Given the description of an element on the screen output the (x, y) to click on. 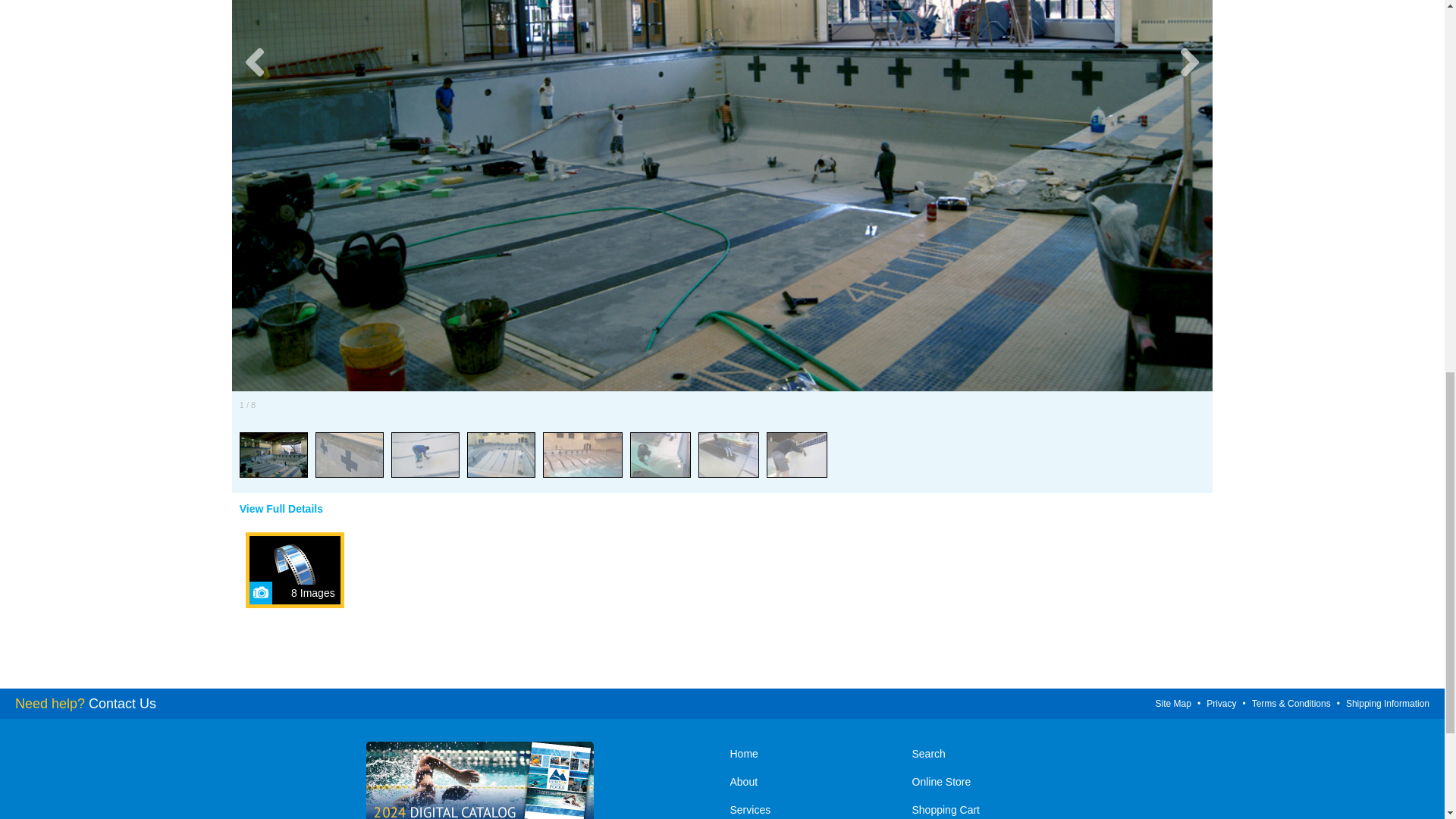
View Privacy Page (1221, 702)
Shopping Cart (994, 808)
View Site Map Page (1173, 702)
View Shipping Information Page (1387, 702)
Search (994, 755)
Home (812, 755)
Digital Catalog (478, 780)
Online Store (994, 783)
